Given the description of an element on the screen output the (x, y) to click on. 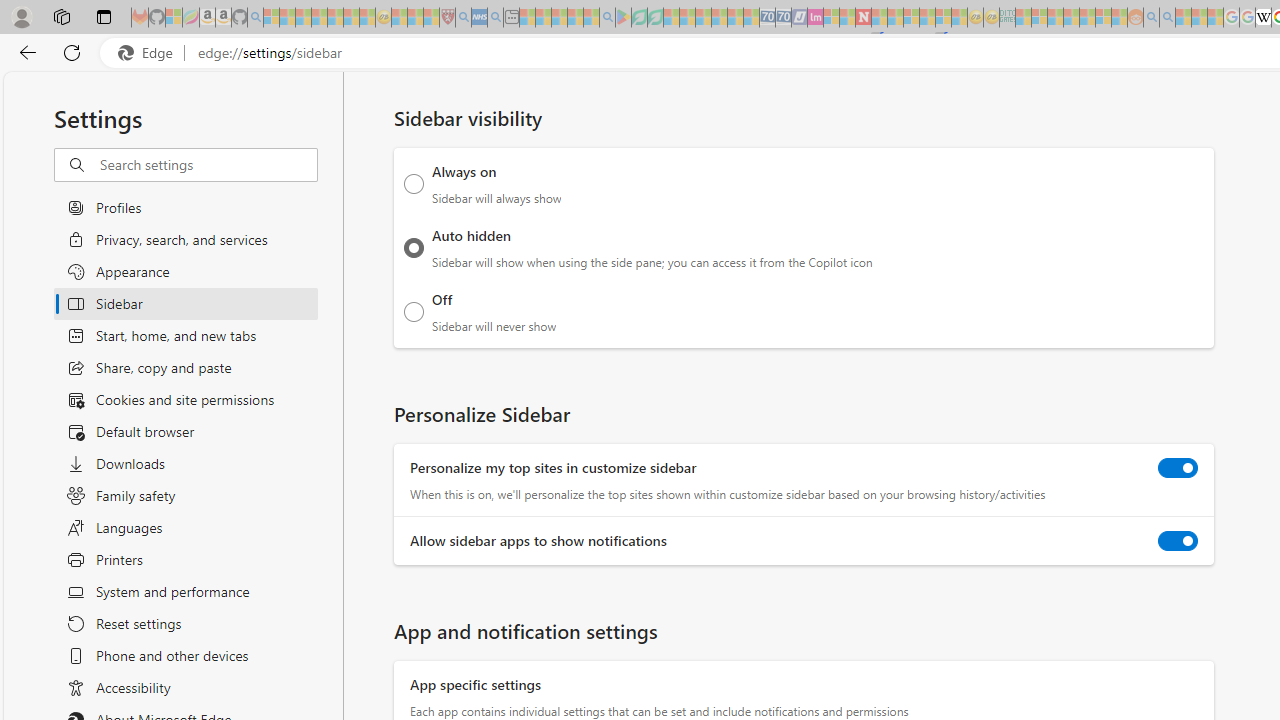
Expert Portfolios - Sleeping (1071, 17)
Kinda Frugal - MSN - Sleeping (1087, 17)
Terms of Use Agreement - Sleeping (639, 17)
utah sues federal government - Search - Sleeping (495, 17)
Search settings (207, 165)
DITOGAMES AG Imprint - Sleeping (1007, 17)
